Given the description of an element on the screen output the (x, y) to click on. 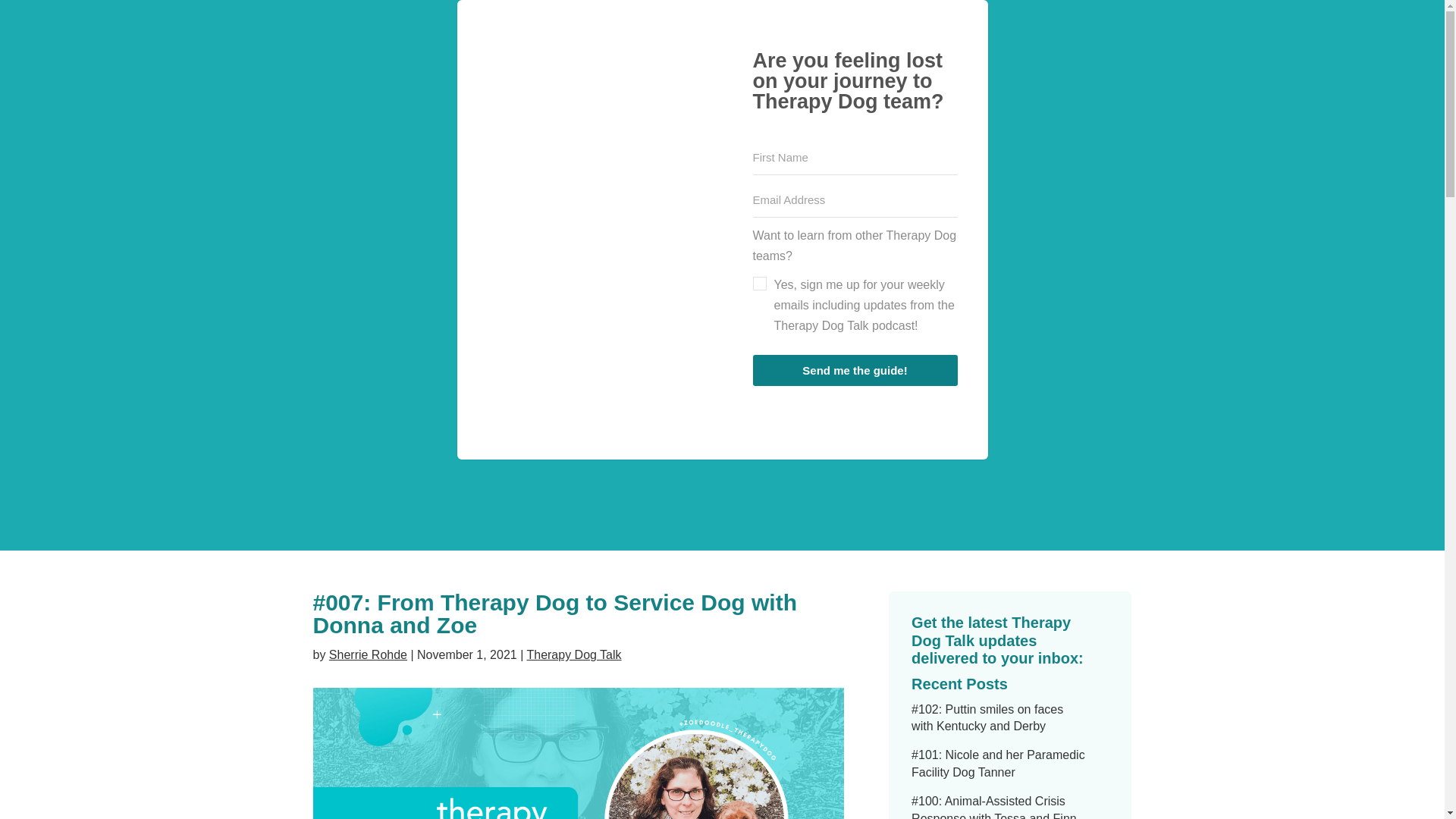
Posts by Sherrie Rohde (368, 654)
Send me the guide! (854, 369)
From Therapy Dog to Service Dog with Donna and Zoe (578, 753)
Sherrie Rohde (368, 654)
Therapy Dog Talk (573, 654)
